Given the description of an element on the screen output the (x, y) to click on. 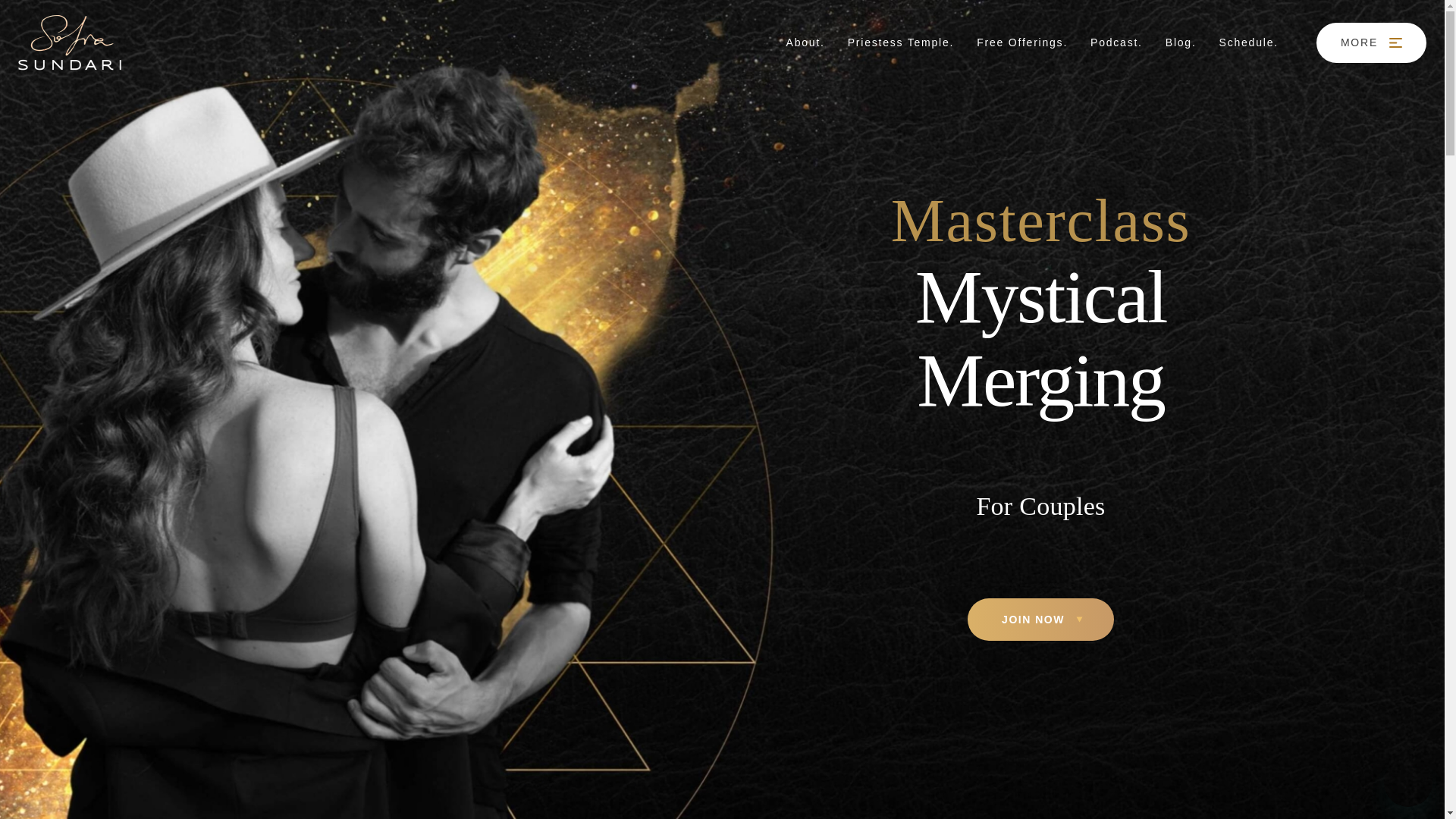
Free Offerings. (1021, 42)
Podcast. (1116, 42)
Priestess Temple. (901, 42)
Schedule. (1249, 42)
MORE (1371, 42)
About. (805, 42)
Sofia Sundari (69, 42)
Blog. (1181, 42)
JOIN NOW (1040, 619)
